Given the description of an element on the screen output the (x, y) to click on. 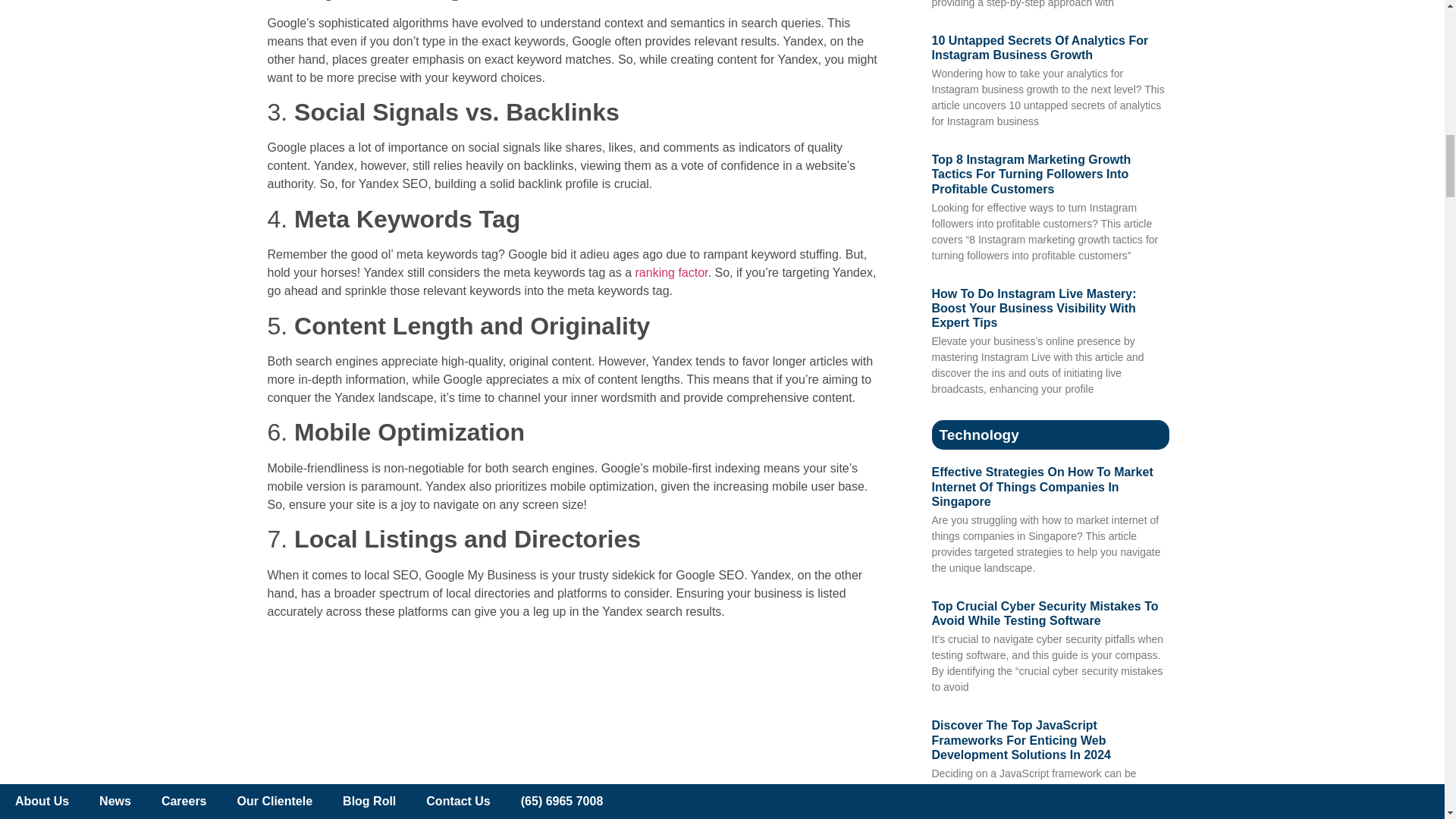
get web design agency singapore (577, 725)
